Given the description of an element on the screen output the (x, y) to click on. 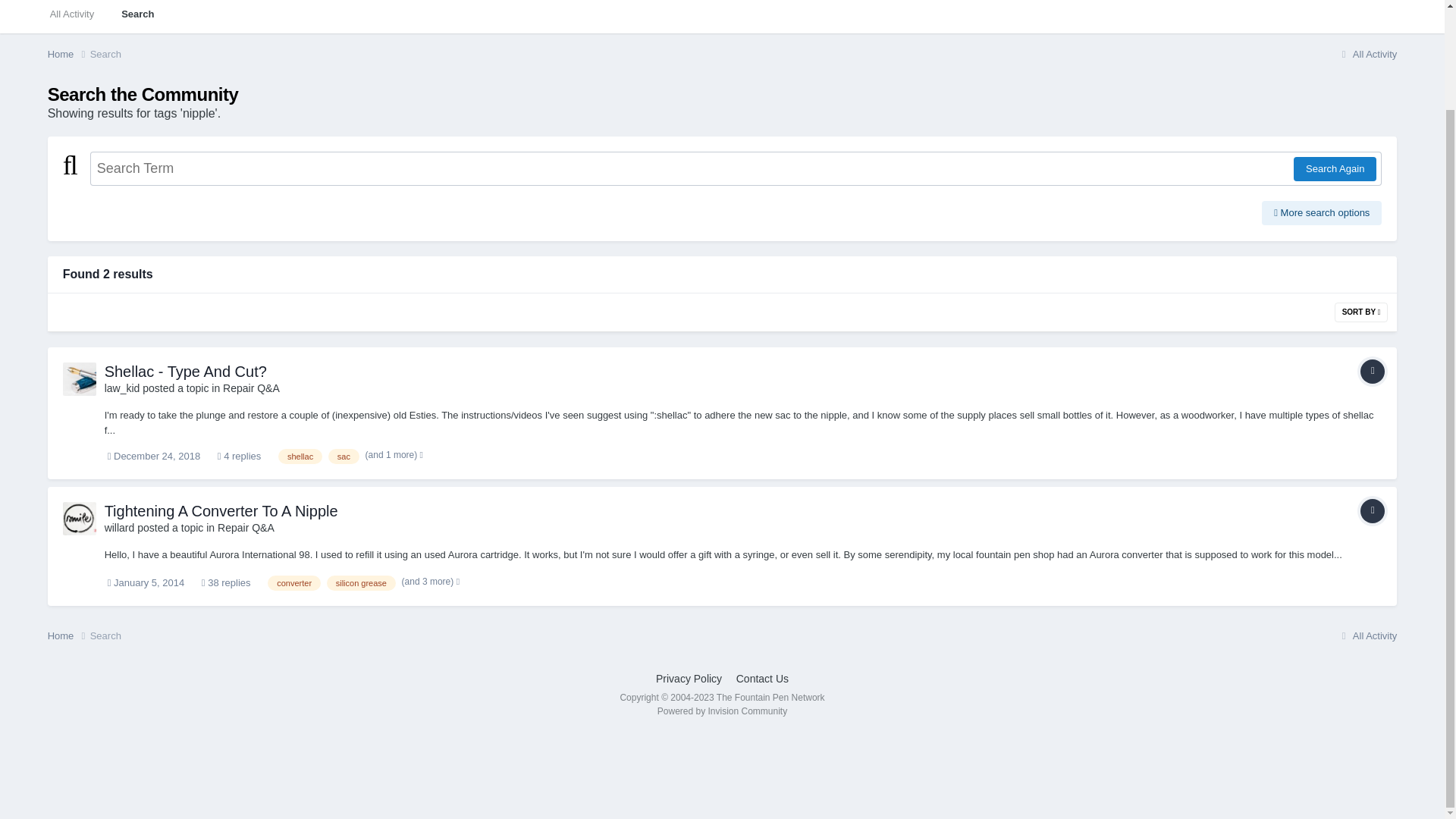
Find other content tagged with 'sac' (344, 456)
Search Again (1334, 168)
All Activity (71, 16)
More search options (1321, 212)
Search (137, 16)
Home (69, 54)
Topic (1371, 510)
Home (69, 635)
Invision Community (722, 710)
Find other content tagged with 'silicon grease' (361, 582)
Home (69, 54)
Find other content tagged with 'converter' (293, 582)
All Activity (1366, 53)
Find other content tagged with 'shellac' (299, 456)
Search (105, 53)
